Given the description of an element on the screen output the (x, y) to click on. 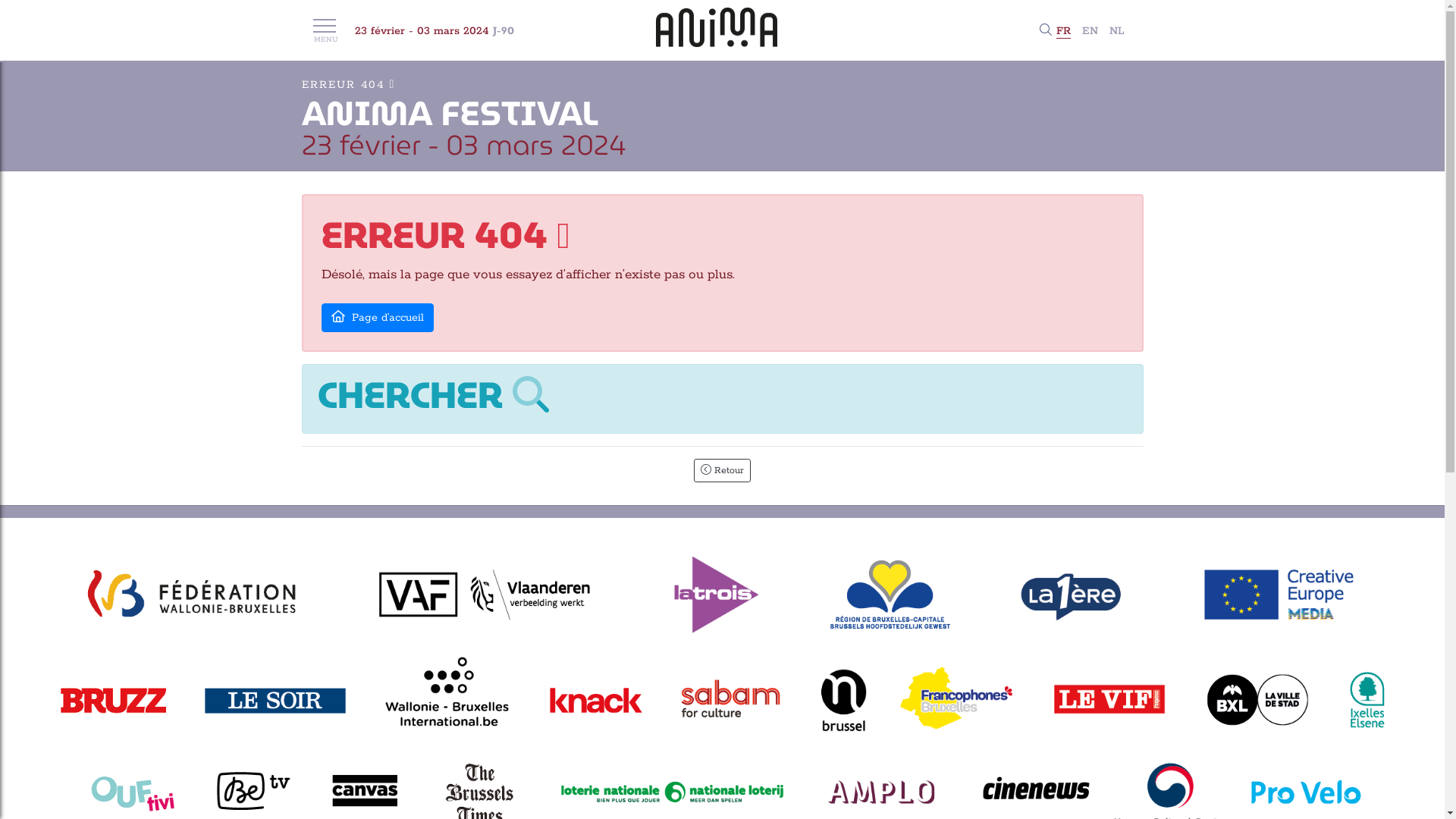
FR Element type: text (1062, 31)
EN Element type: text (1089, 30)
NL Element type: text (1115, 30)
Retour Element type: text (721, 470)
